Given the description of an element on the screen output the (x, y) to click on. 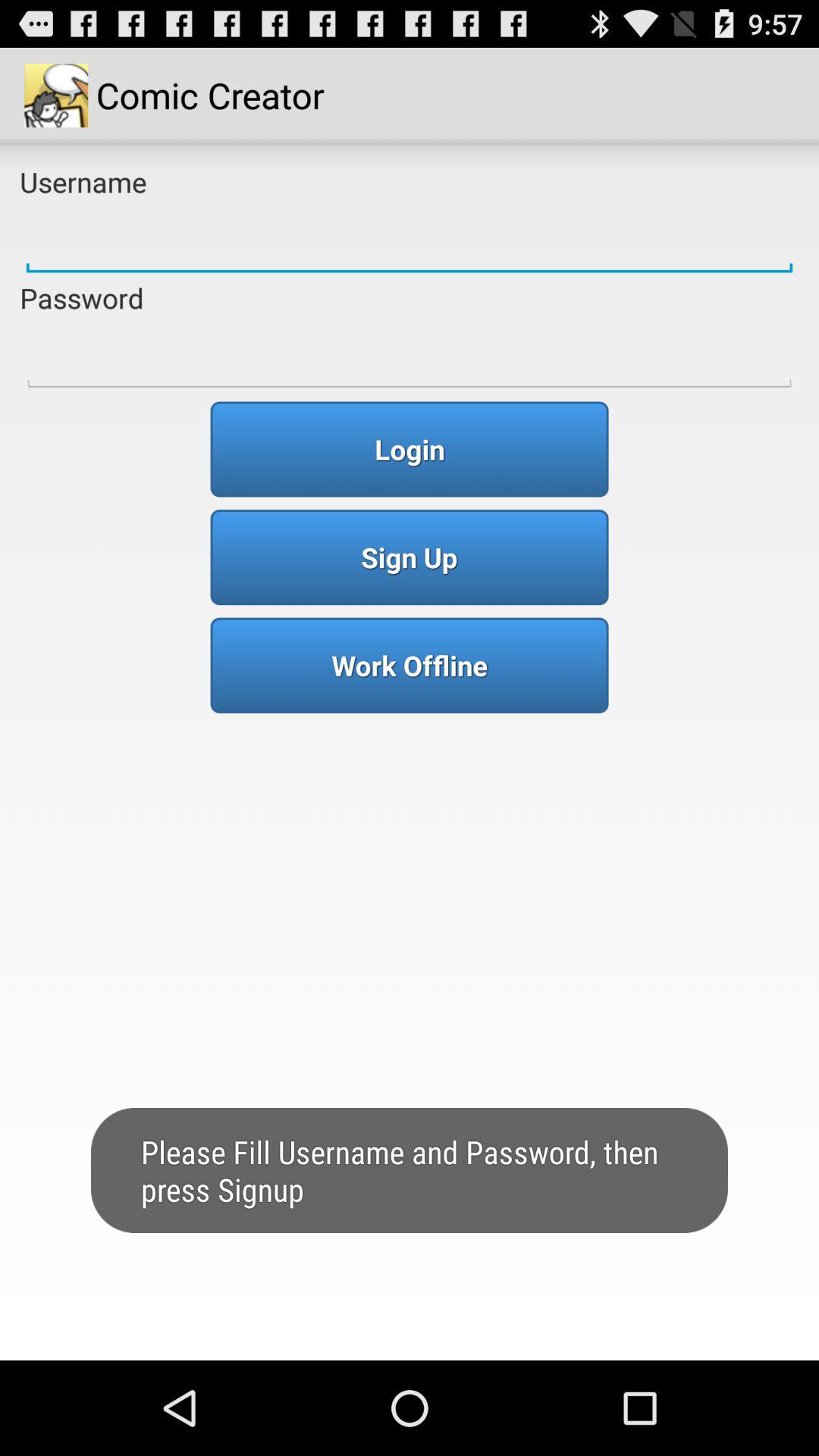
input password (409, 355)
